Given the description of an element on the screen output the (x, y) to click on. 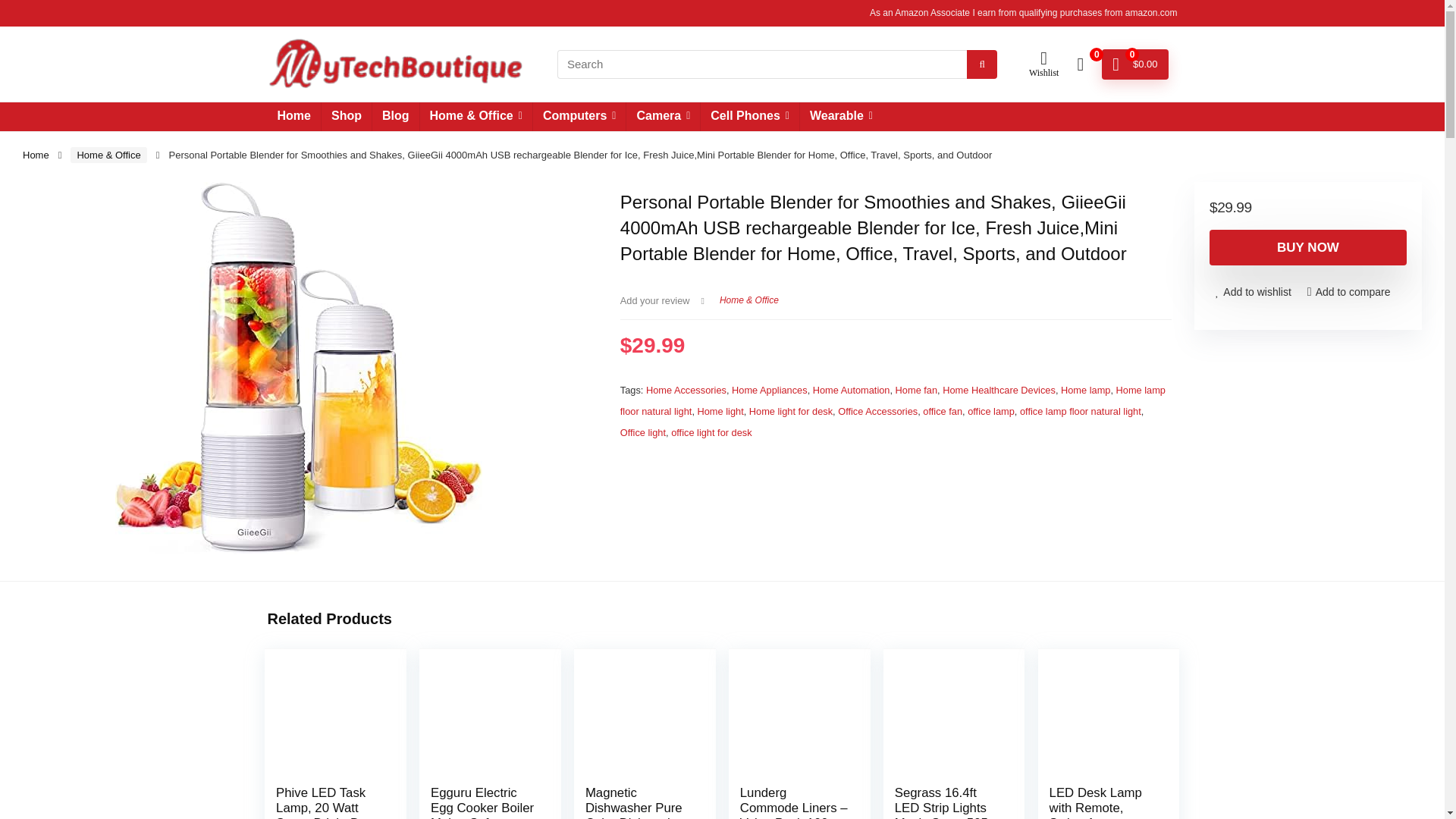
Home (36, 154)
Blog (395, 116)
Camera (663, 116)
Cell Phones (749, 116)
Shop (346, 116)
Computers (579, 116)
Home (293, 116)
Wearable (840, 116)
Add your review (655, 300)
